Given the description of an element on the screen output the (x, y) to click on. 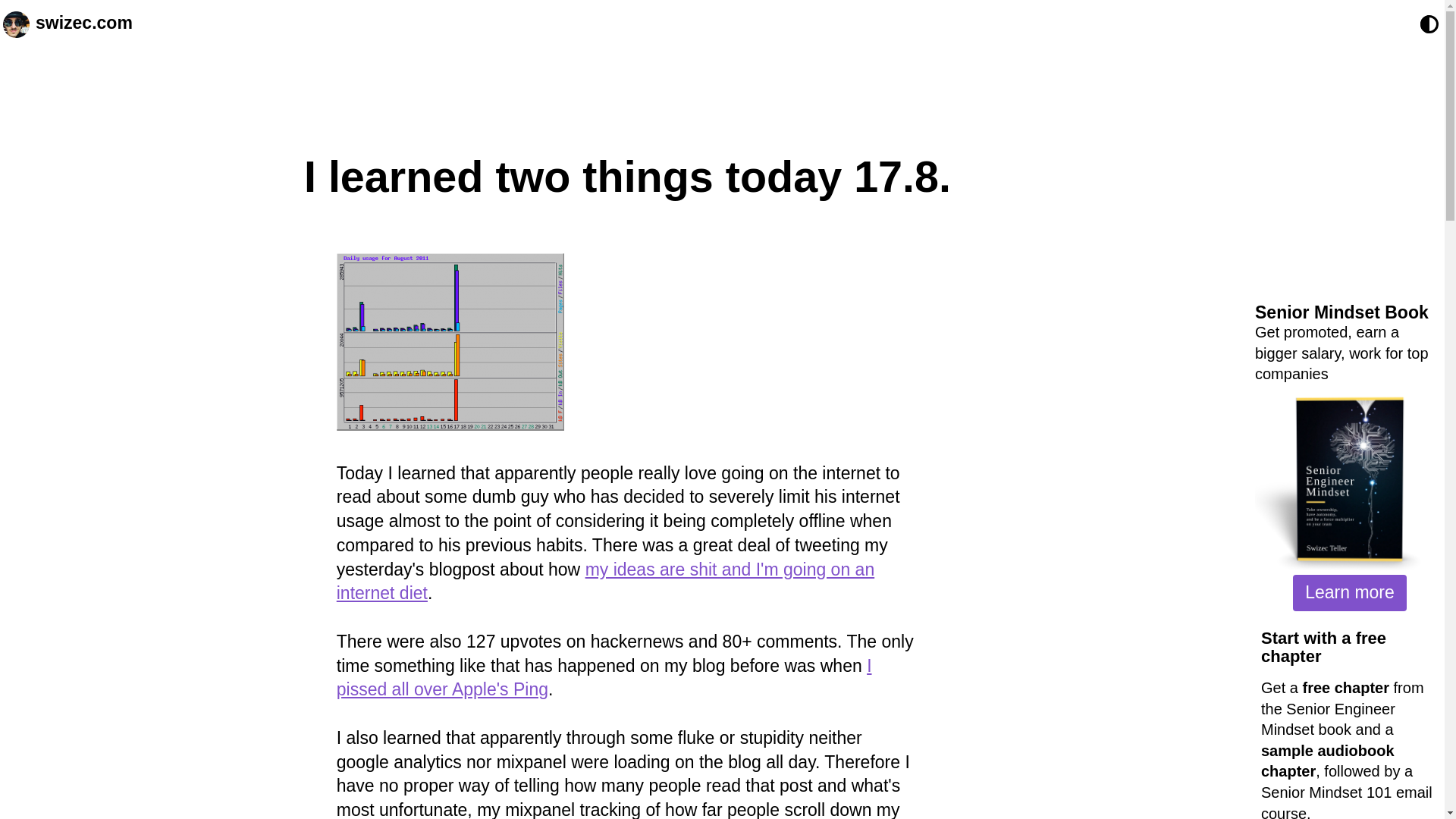
Learn more (1349, 592)
Start with a free chapter (1323, 646)
my ideas are shit and I'm going on an internet diet (605, 581)
Daily stats (450, 341)
Change color mode (1428, 24)
I pissed all over Apple's Ping (604, 678)
swizec.com (83, 23)
Swizec Teller - a geek with a hat (15, 23)
